Given the description of an element on the screen output the (x, y) to click on. 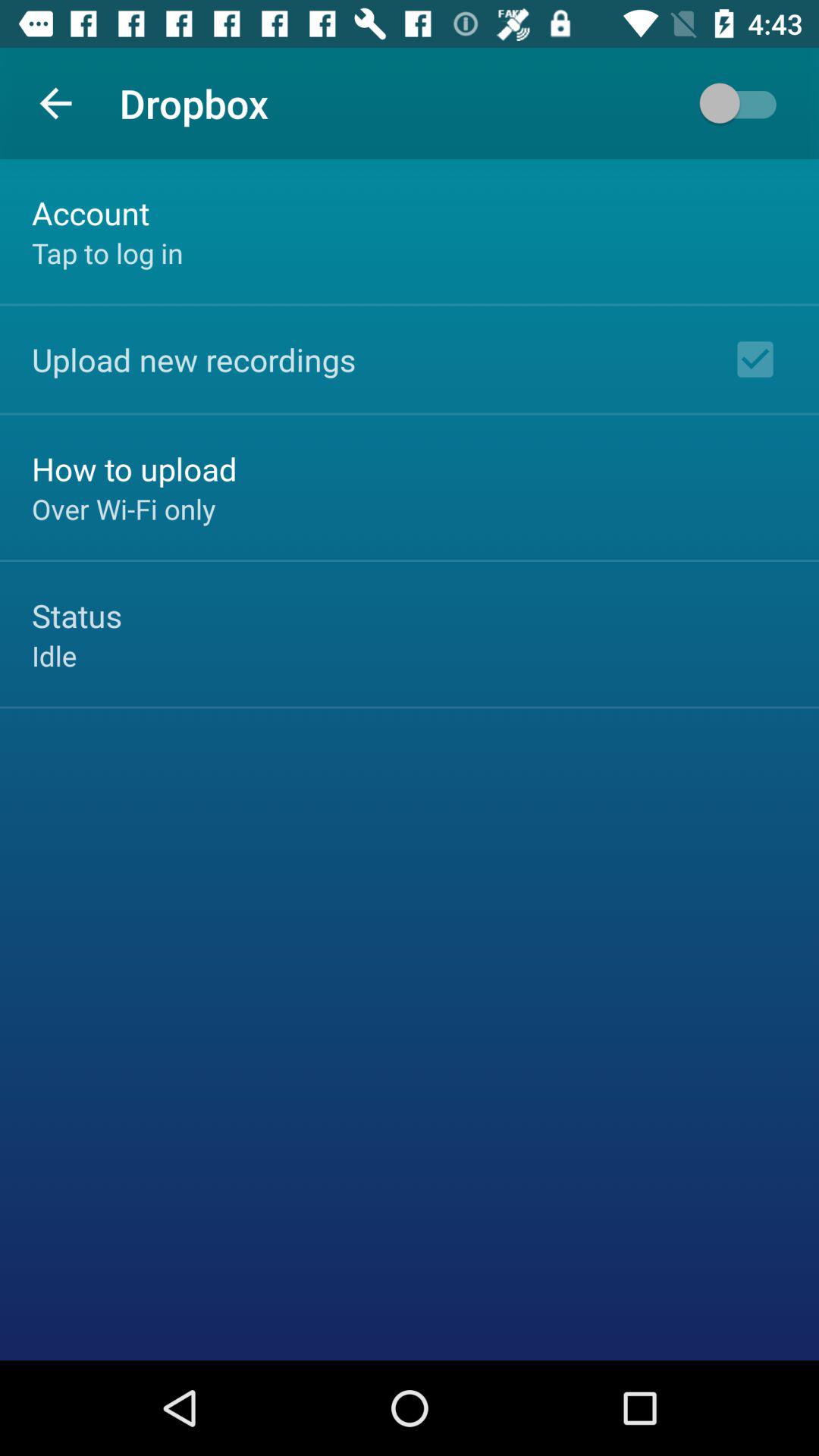
turn off icon below the status (53, 655)
